Given the description of an element on the screen output the (x, y) to click on. 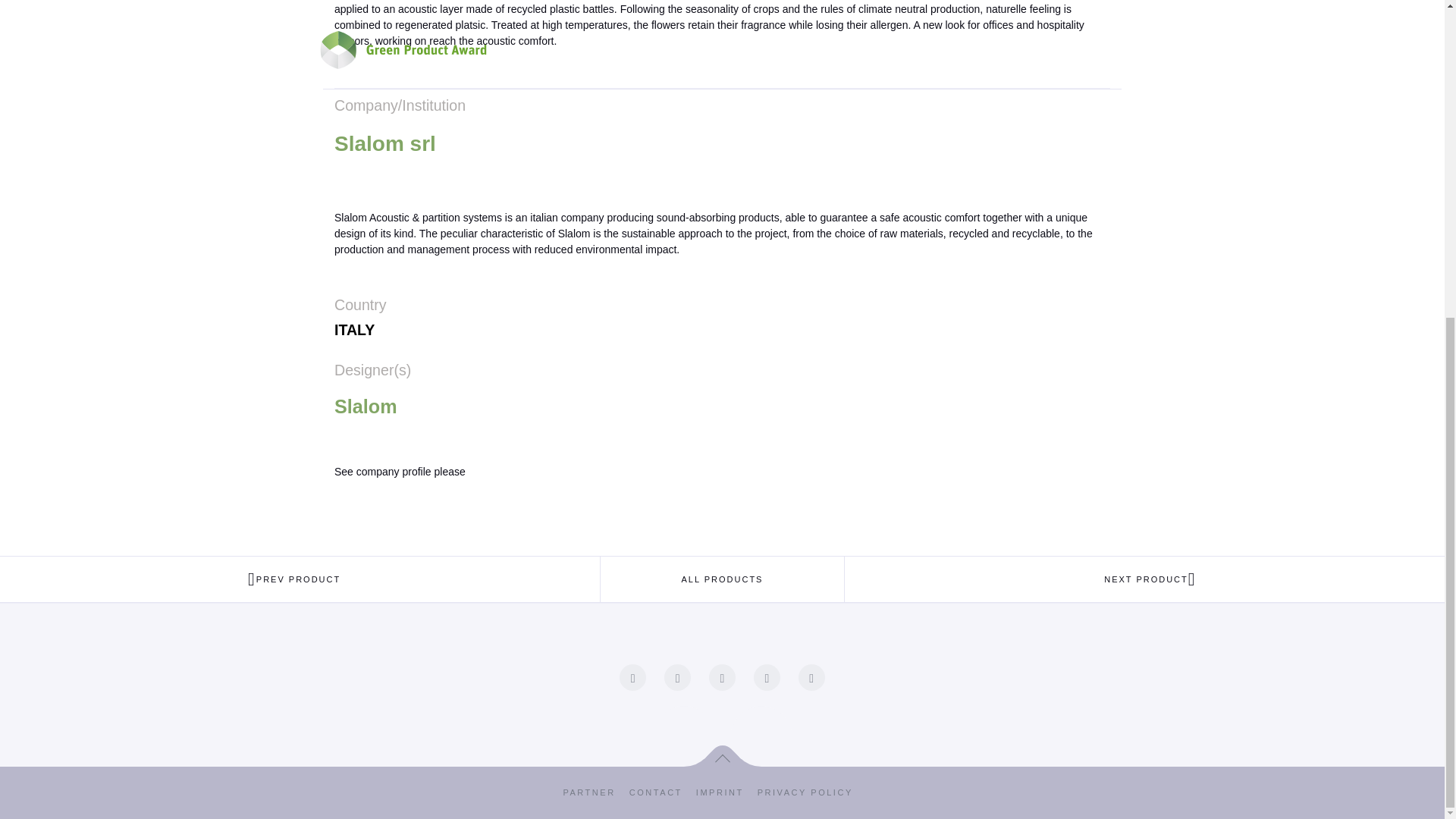
PARTNER    (594, 792)
PREV PRODUCT (299, 578)
ALL PRODUCTS (721, 578)
PRIVACY POLICY        (819, 792)
CONTACT    (661, 792)
IMPRINT    (726, 792)
